Given the description of an element on the screen output the (x, y) to click on. 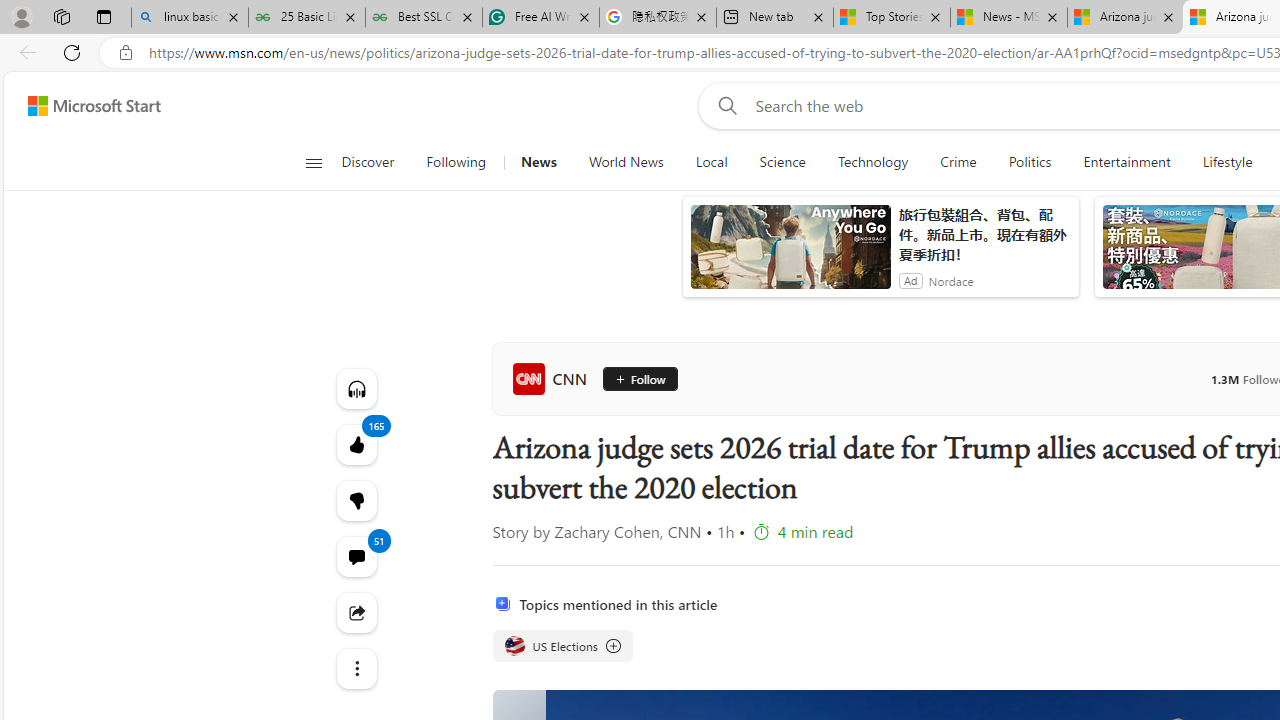
Entertainment (1126, 162)
Crime (957, 162)
